Given the description of an element on the screen output the (x, y) to click on. 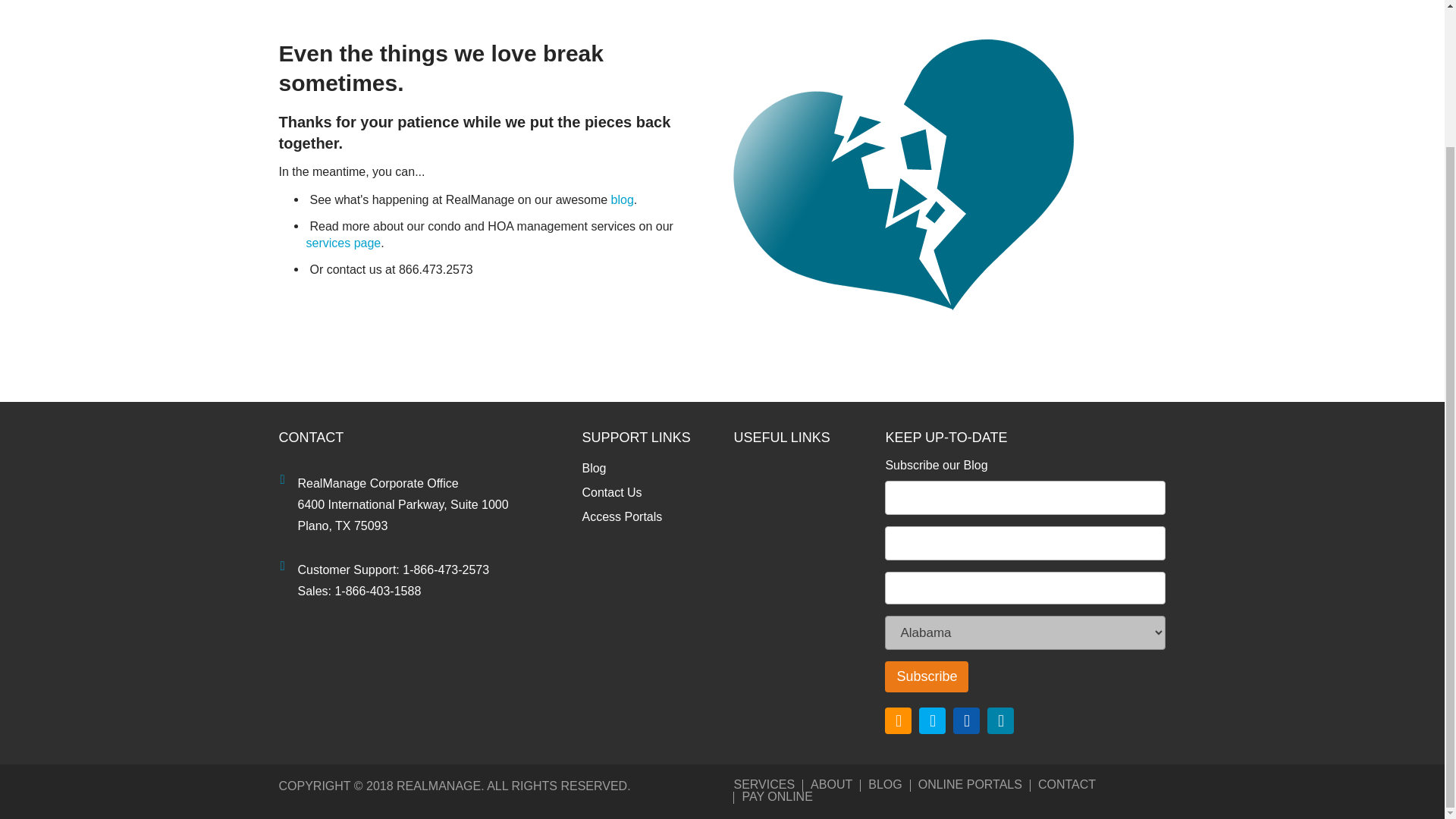
Subscribe (926, 676)
services page (343, 242)
Blue Heart.png (903, 174)
blog (622, 199)
Blog (645, 468)
